Given the description of an element on the screen output the (x, y) to click on. 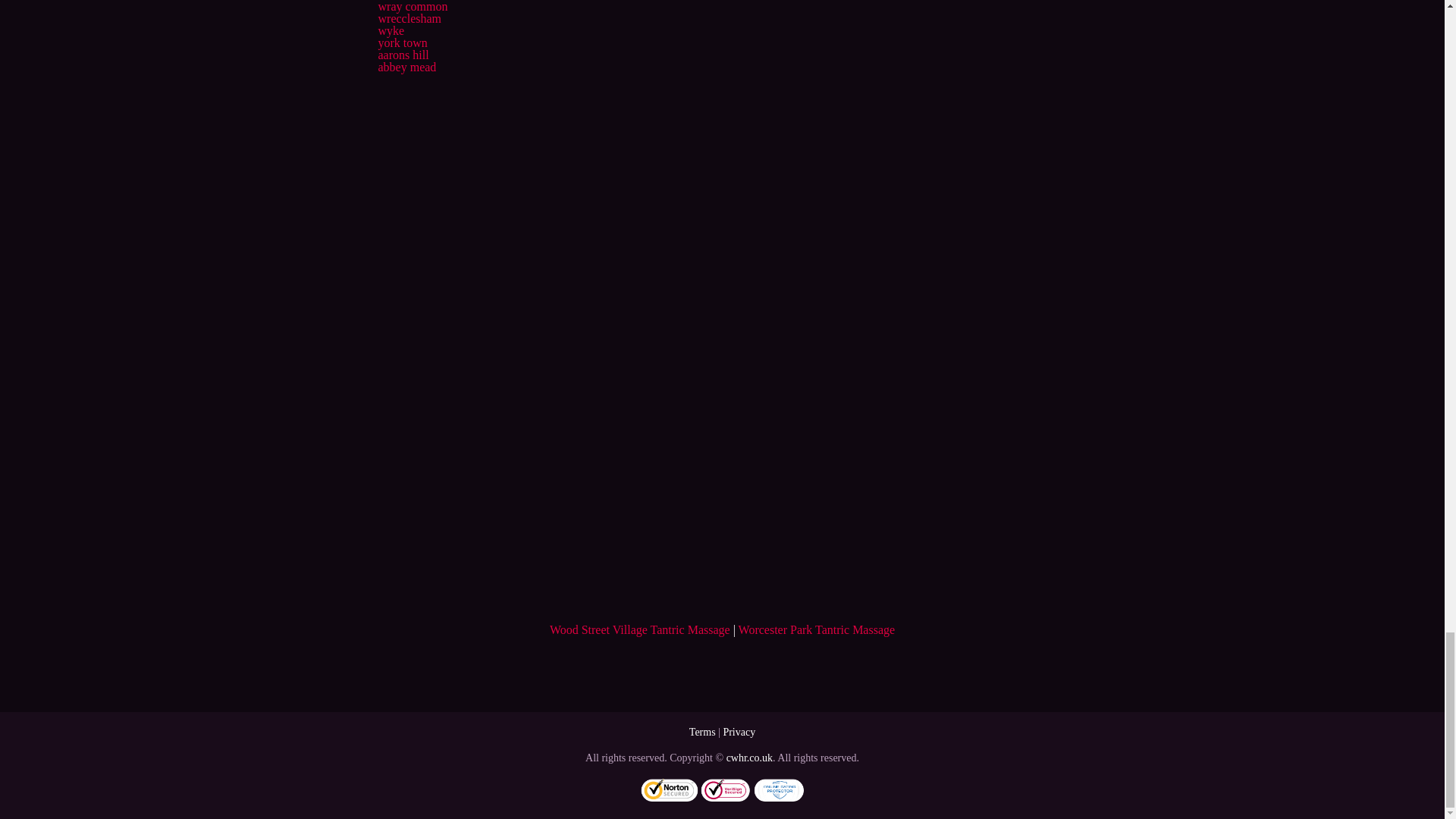
wyke (390, 30)
Privacy (738, 731)
aarons hill (402, 54)
wrecclesham (409, 18)
Terms (702, 731)
wray common (411, 6)
Worcester Park Tantric Massage (816, 629)
Privacy (738, 731)
Terms (702, 731)
